Given the description of an element on the screen output the (x, y) to click on. 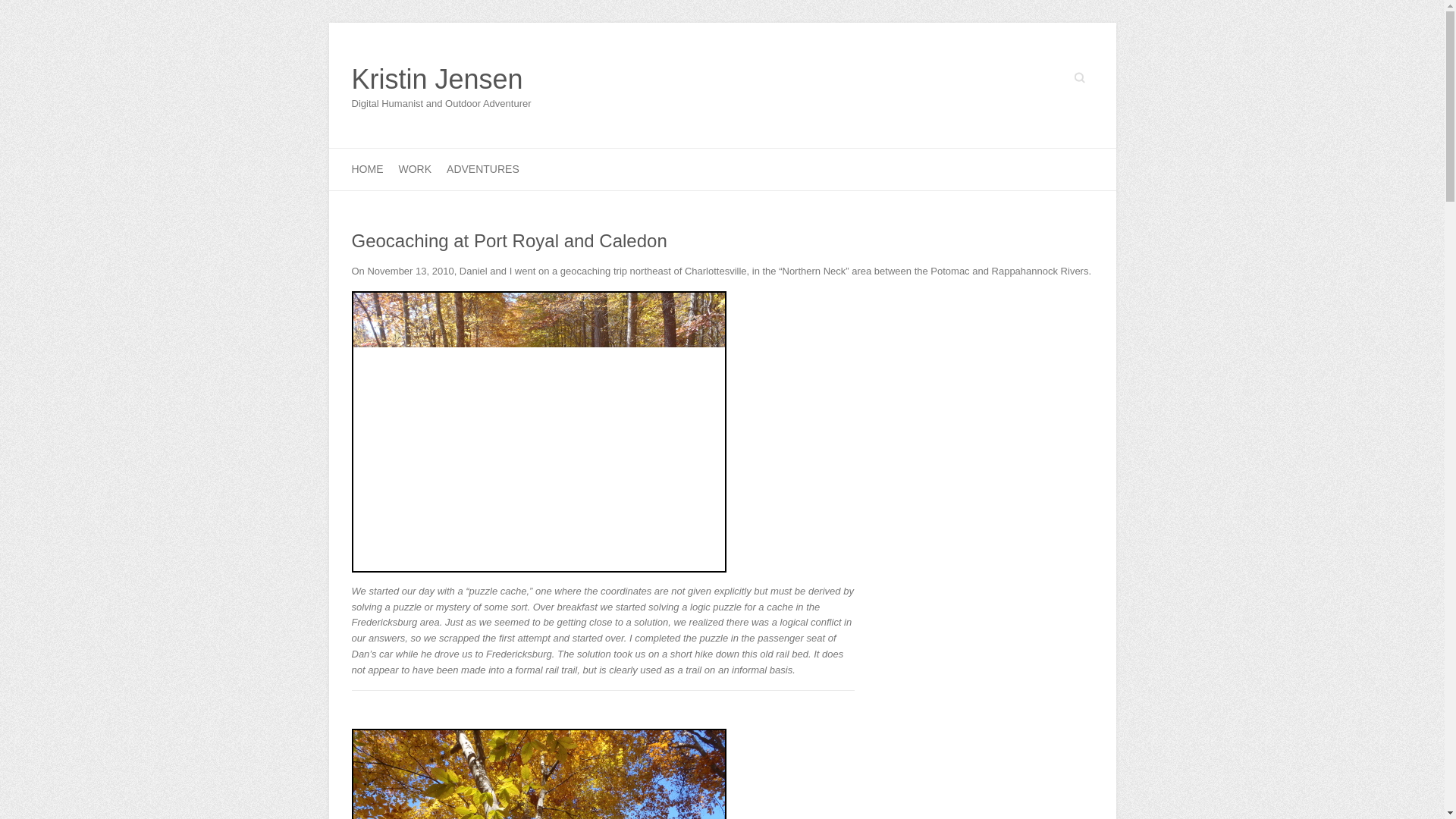
Kristin Jensen (441, 79)
ADVENTURES (482, 169)
PB130167.jpg (539, 431)
PB130169.jpg (539, 773)
Kristin Jensen (441, 79)
